Given the description of an element on the screen output the (x, y) to click on. 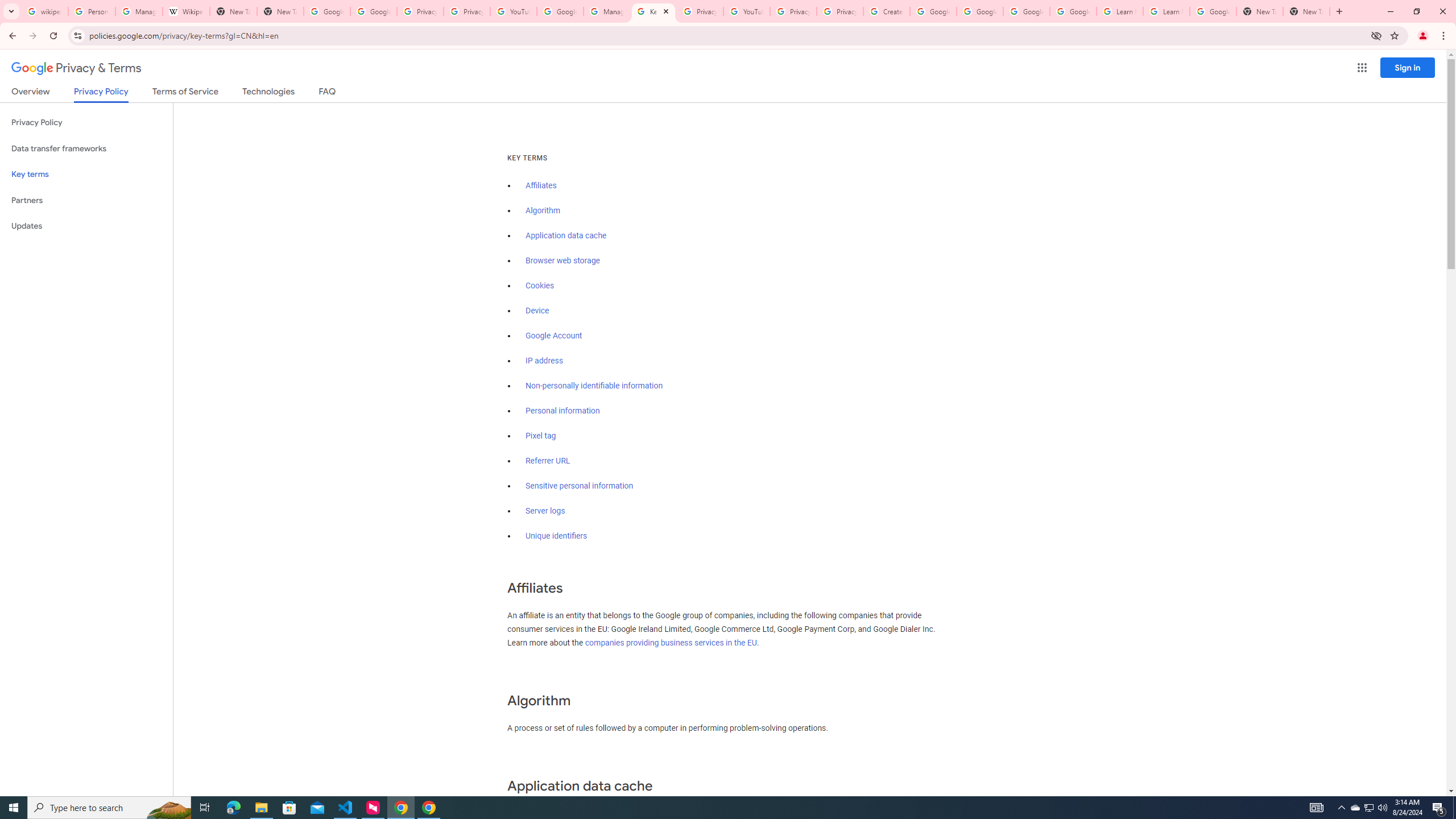
New Tab (1306, 11)
Server logs (544, 511)
New Tab (1259, 11)
Algorithm (542, 210)
New Tab (279, 11)
Application data cache (566, 235)
Google Account Help (933, 11)
